Given the description of an element on the screen output the (x, y) to click on. 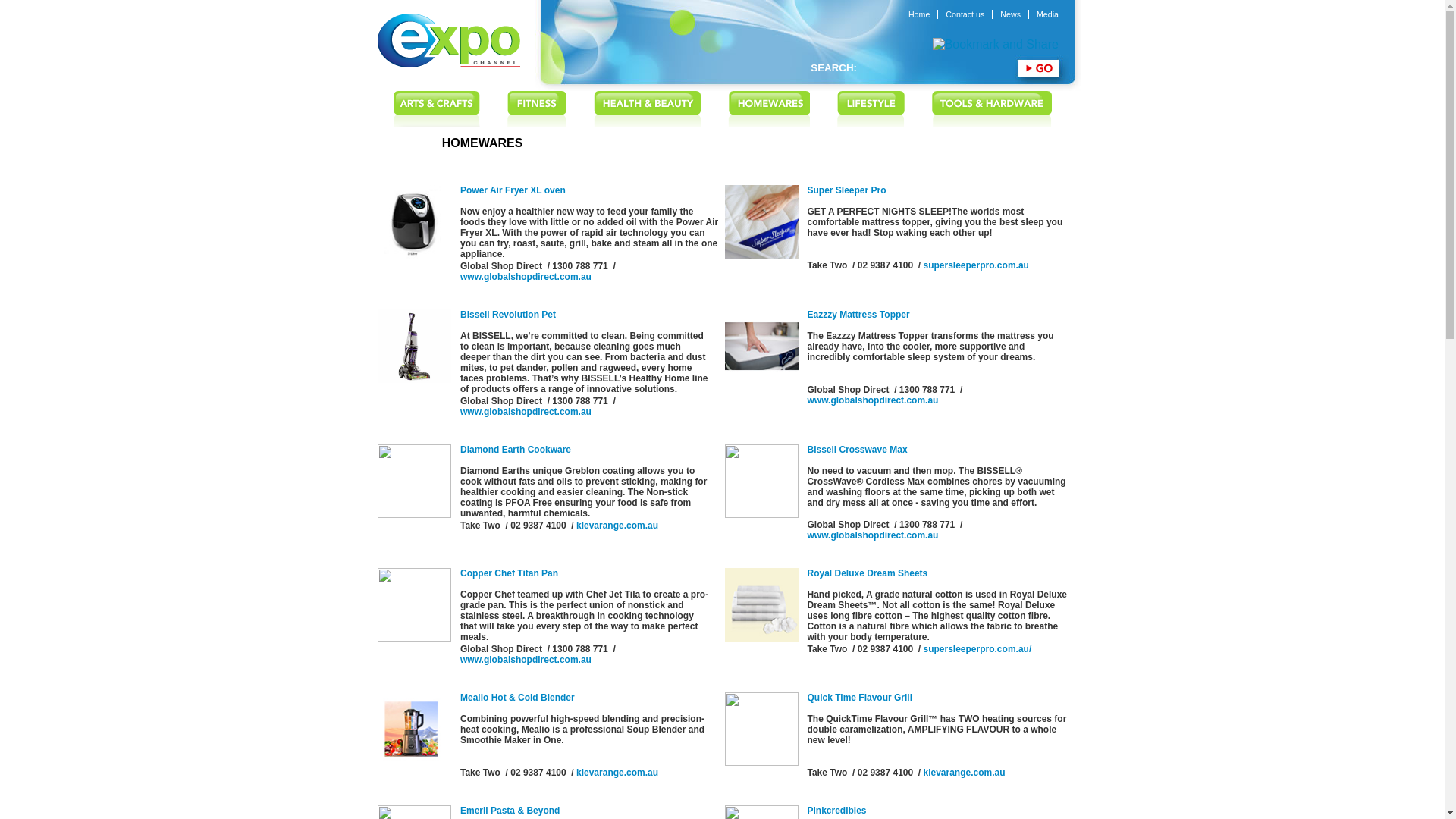
www.globalshopdirect.com.au Element type: text (525, 411)
supersleeperpro.com.au Element type: text (976, 265)
Pinkcredibles Element type: text (836, 810)
Copper Chef Titan Pan Element type: text (509, 572)
Super Sleeper Pro Element type: text (845, 190)
www.globalshopdirect.com.au Element type: text (872, 400)
www.globalshopdirect.com.au Element type: text (525, 659)
Contact us Element type: text (965, 13)
klevarange.com.au Element type: text (964, 772)
Bissell Crosswave Max Element type: text (856, 449)
  Element type: text (536, 109)
Bissell Revolution Pet Element type: text (507, 314)
Home Element type: text (919, 13)
klevarange.com.au Element type: text (617, 525)
Royal Deluxe Dream Sheets Element type: text (866, 572)
  Element type: text (870, 109)
www.globalshopdirect.com.au Element type: text (872, 535)
Diamond Earth Cookware Element type: text (515, 449)
  Element type: text (436, 109)
  Element type: text (646, 109)
  Element type: text (991, 109)
  Element type: text (768, 109)
Search Element type: hover (1038, 67)
klevarange.com.au Element type: text (617, 772)
Mealio Hot & Cold Blender Element type: text (517, 697)
Quick Time Flavour Grill Element type: text (859, 697)
www.globalshopdirect.com.au Element type: text (525, 276)
Media Element type: text (1047, 13)
supersleeperpro.com.au/ Element type: text (977, 648)
Emeril Pasta & Beyond Element type: text (509, 810)
News Element type: text (1010, 13)
Eazzzy Mattress Topper Element type: text (857, 314)
Power Air Fryer XL oven Element type: text (512, 190)
